Given the description of an element on the screen output the (x, y) to click on. 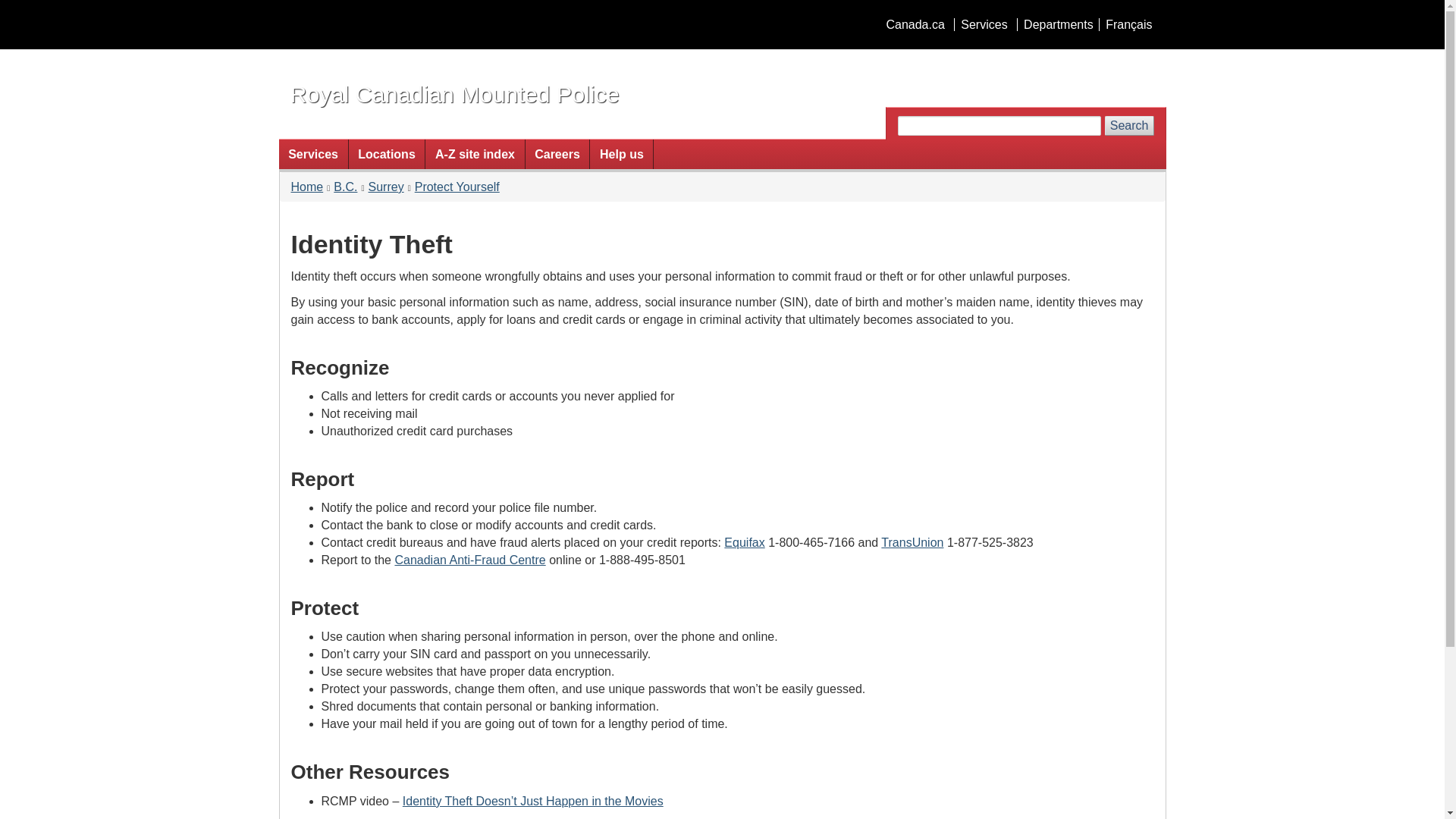
Surrey (386, 186)
Locations (387, 153)
A-Z site index (474, 153)
Canadian Anti-Fraud Centre (469, 559)
Protect Yourself (456, 186)
B.C. (344, 186)
Royal Canadian Mounted Police (453, 94)
Equifax (743, 542)
Help us (620, 153)
Services (983, 24)
